Given the description of an element on the screen output the (x, y) to click on. 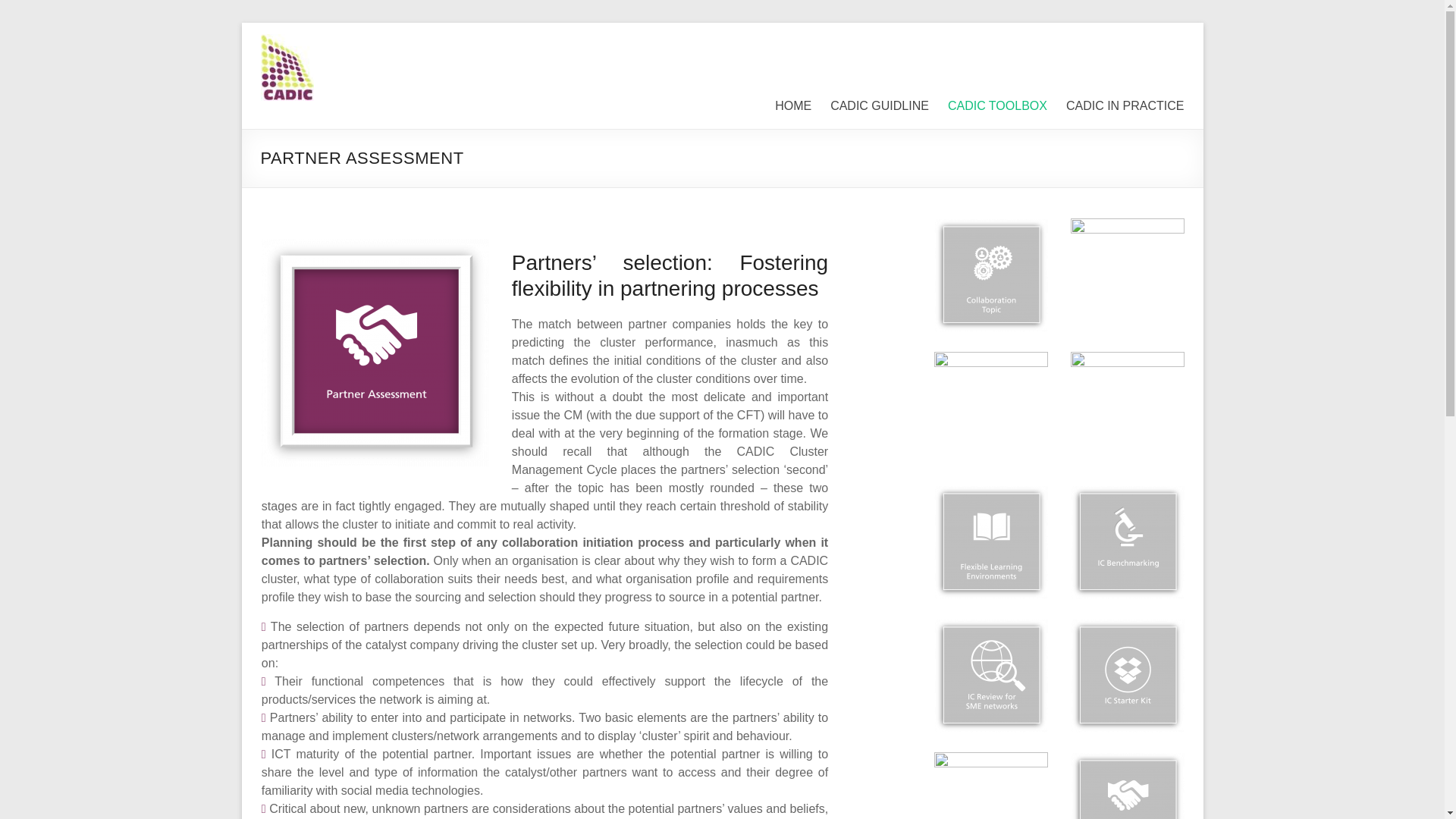
CADIC GUIDLINE (878, 106)
CADIC IN PRACTICE (1125, 106)
HOME (792, 106)
CADIC TOOLBOX (996, 106)
